Given the description of an element on the screen output the (x, y) to click on. 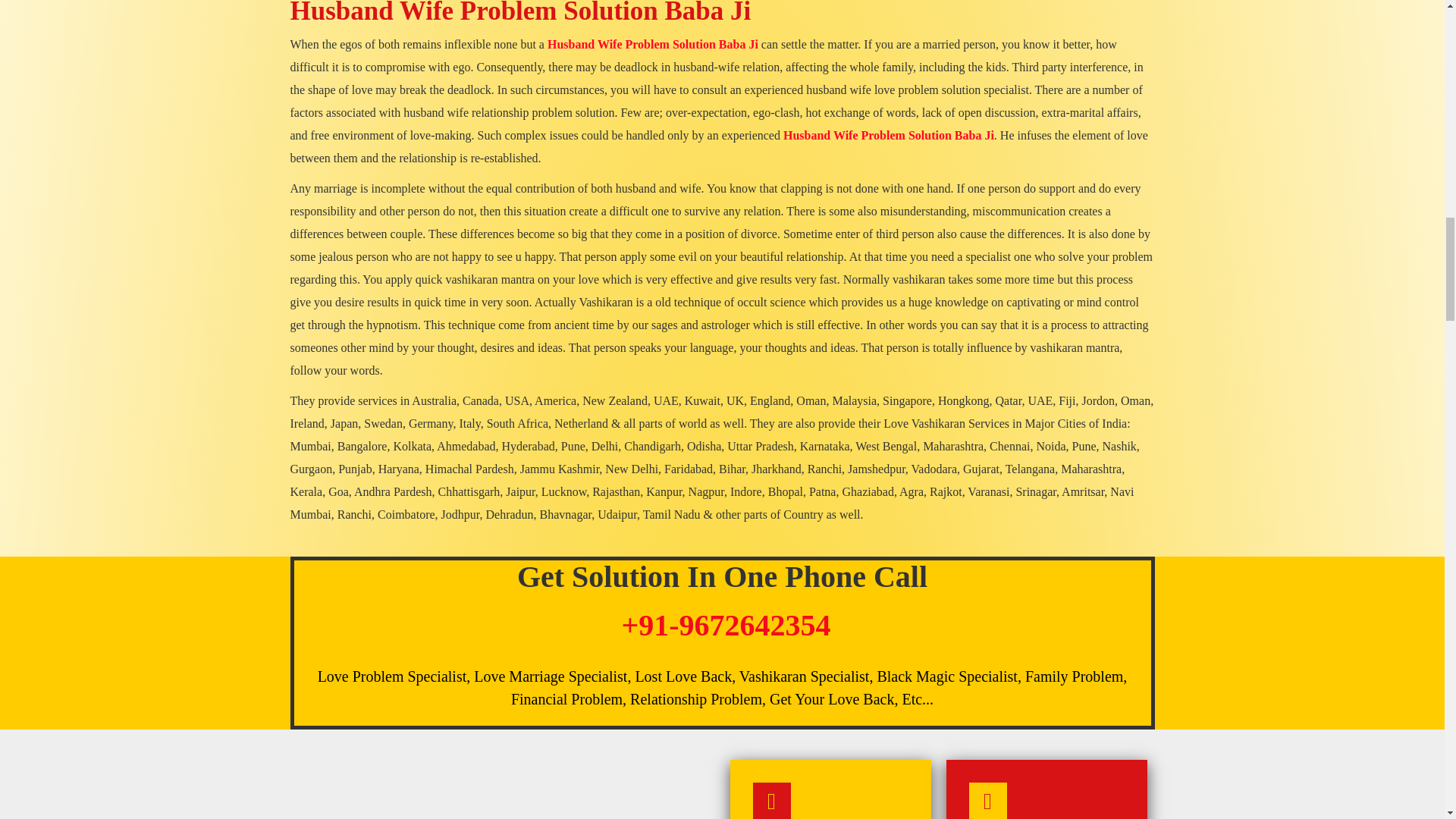
Husband Wife Problem Solution Baba Ji (520, 12)
Husband Wife Problem Solution Baba Ji (520, 12)
